Given the description of an element on the screen output the (x, y) to click on. 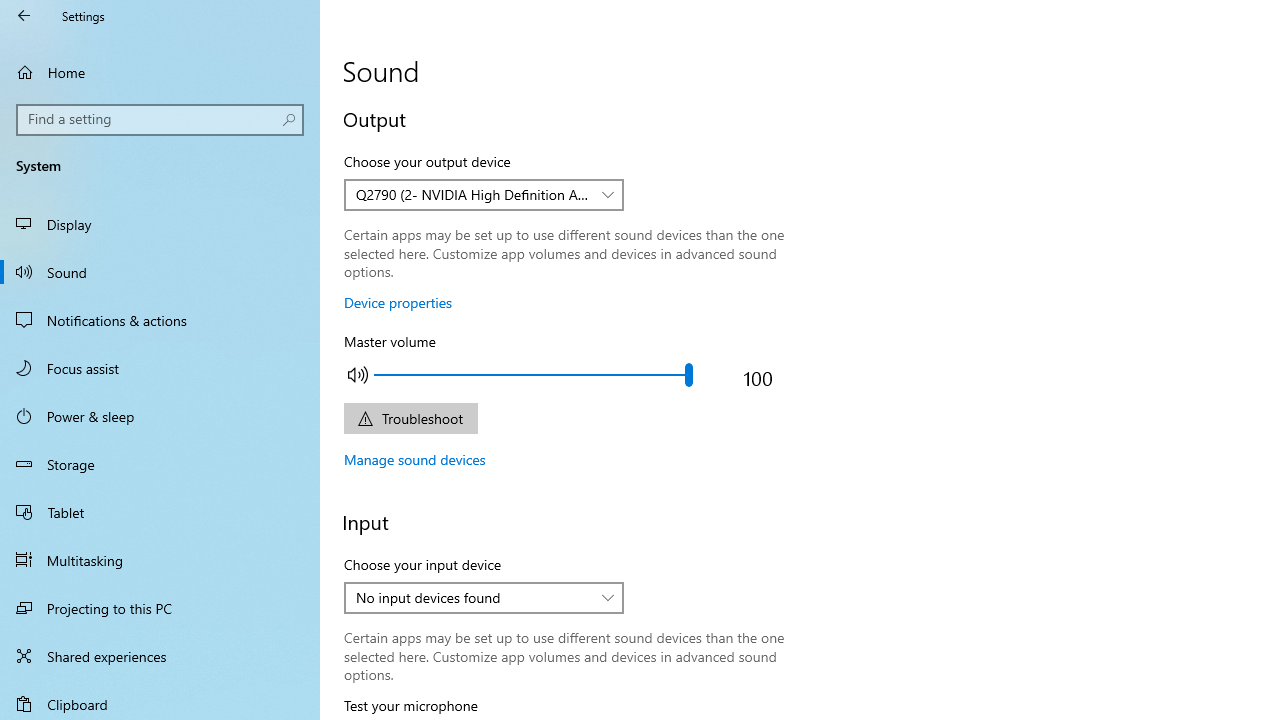
Choose your output device (484, 194)
Storage (160, 463)
Output device troubleshoot (410, 418)
Notifications & actions (160, 319)
Choose your input device (484, 597)
